Given the description of an element on the screen output the (x, y) to click on. 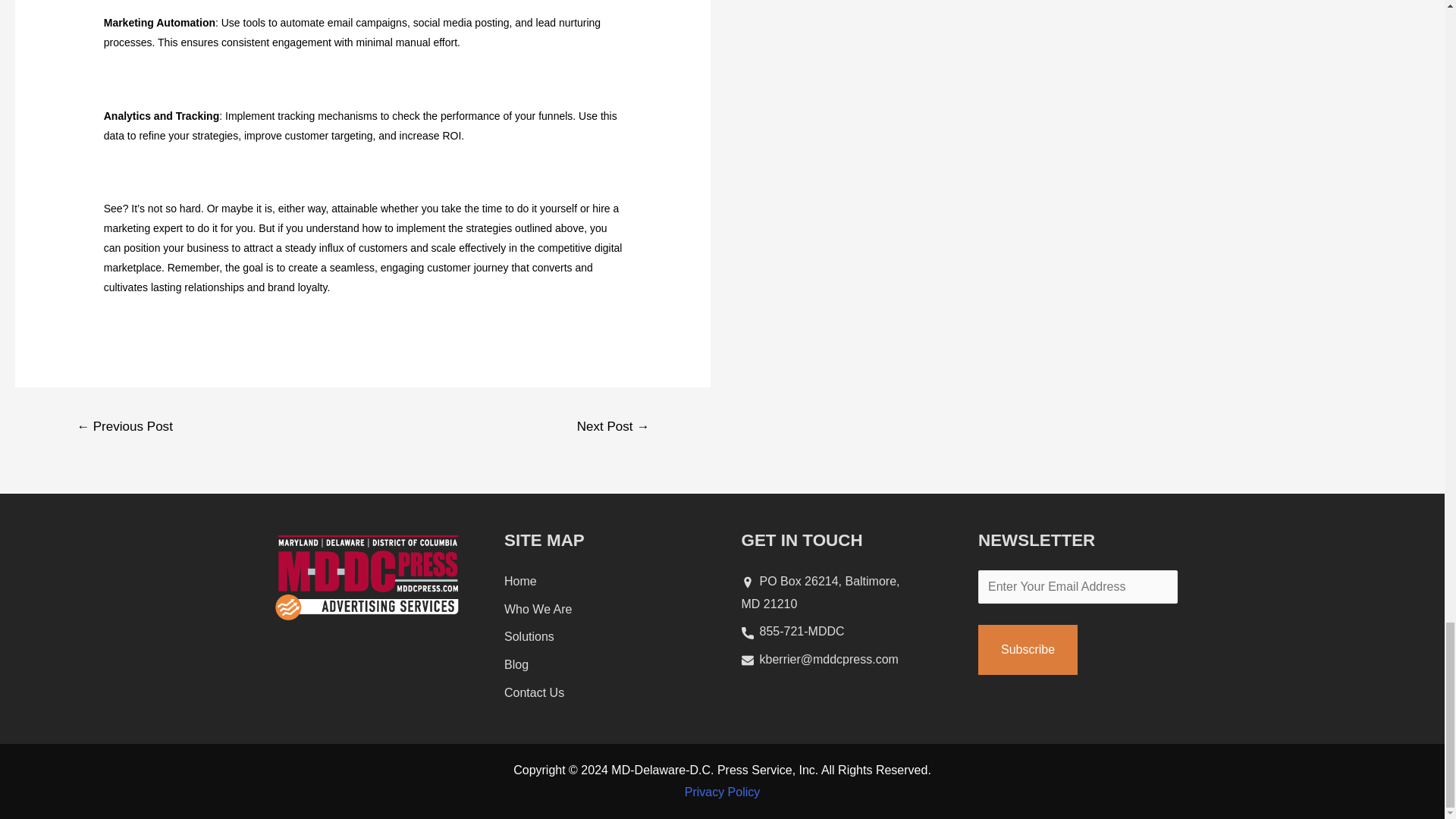
Subscribe (1027, 649)
